Given the description of an element on the screen output the (x, y) to click on. 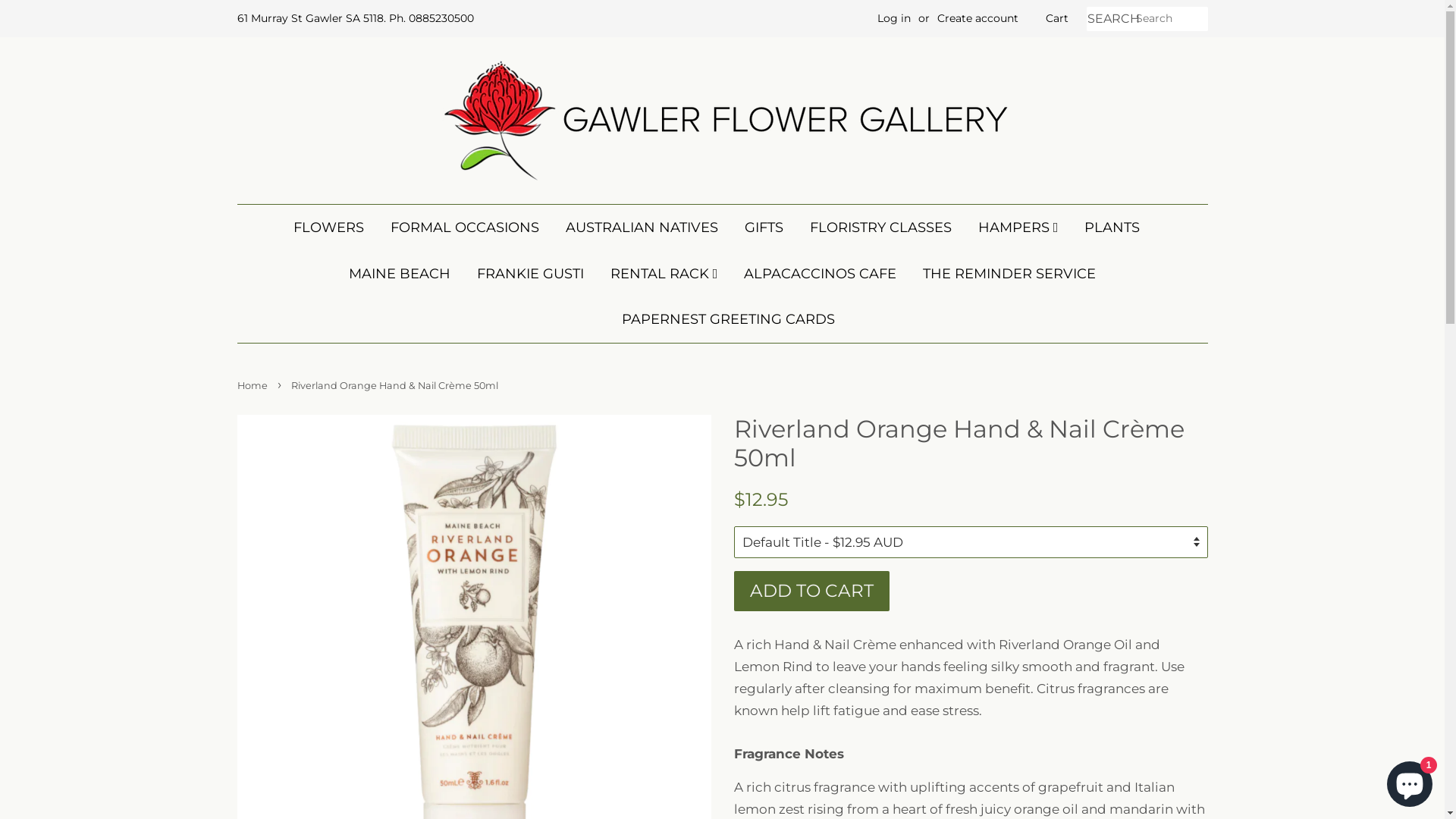
AUSTRALIAN NATIVES Element type: text (641, 227)
ALPACACCINOS CAFE Element type: text (819, 274)
PLANTS Element type: text (1112, 227)
FLOWERS Element type: text (334, 227)
GIFTS Element type: text (763, 227)
MAINE BEACH Element type: text (399, 274)
Cart Element type: text (1055, 18)
Shopify online store chat Element type: hover (1409, 780)
FRANKIE GUSTI Element type: text (530, 274)
Log in Element type: text (893, 18)
FORMAL OCCASIONS Element type: text (464, 227)
THE REMINDER SERVICE Element type: text (1009, 274)
Create account Element type: text (977, 18)
Home Element type: text (253, 385)
FLORISTRY CLASSES Element type: text (880, 227)
ADD TO CART Element type: text (811, 591)
SEARCH Element type: text (1109, 18)
PAPERNEST GREETING CARDS Element type: text (721, 319)
